Given the description of an element on the screen output the (x, y) to click on. 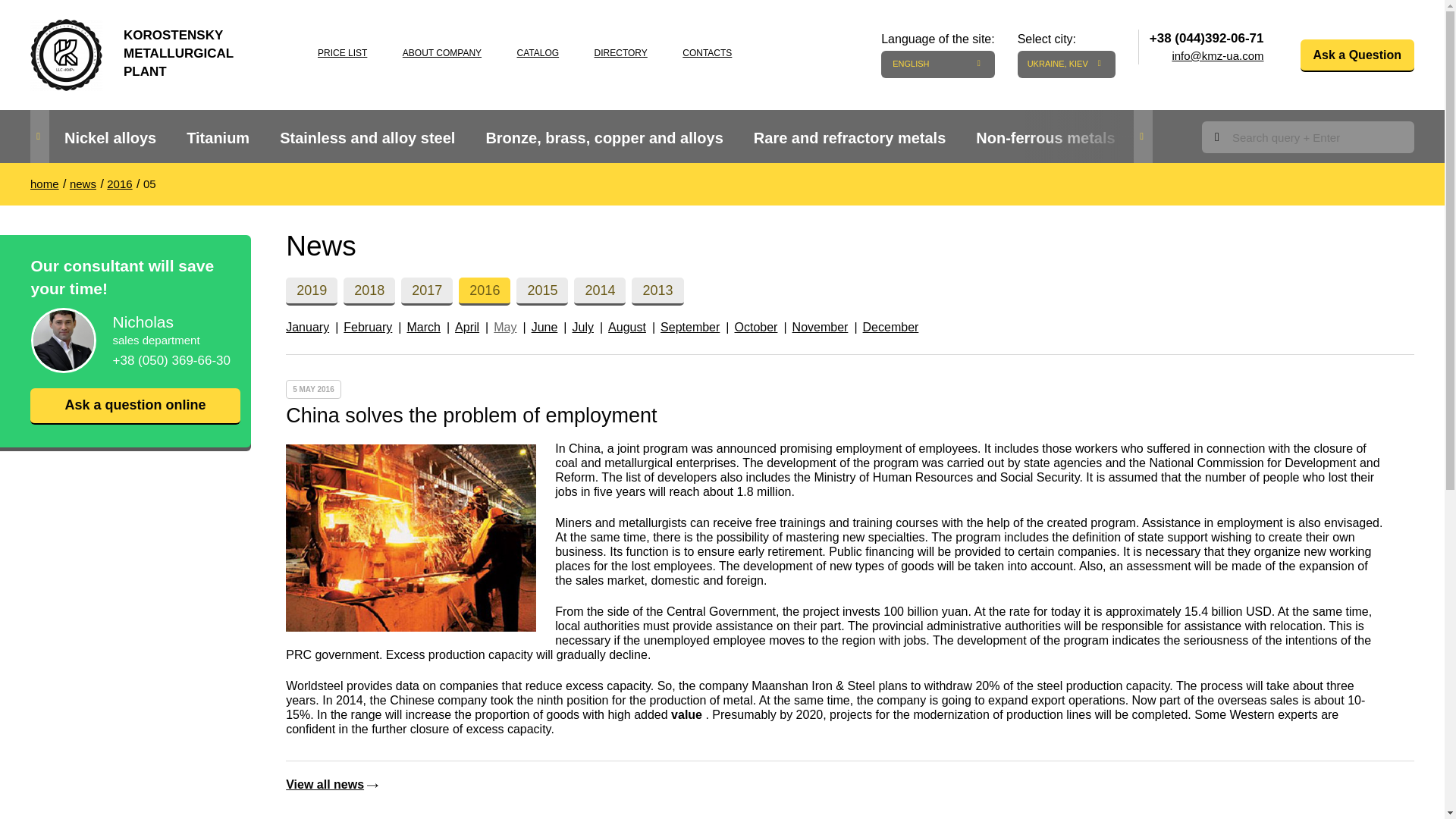
ABOUT COMPANY (442, 52)
Ask a Question (1356, 55)
DIRECTORY (620, 52)
CATALOG (537, 52)
KOROSTENSKY METALLURGICAL PLANT (147, 49)
CONTACTS (707, 52)
Nickel alloys (110, 138)
PRICE LIST (341, 52)
